Given the description of an element on the screen output the (x, y) to click on. 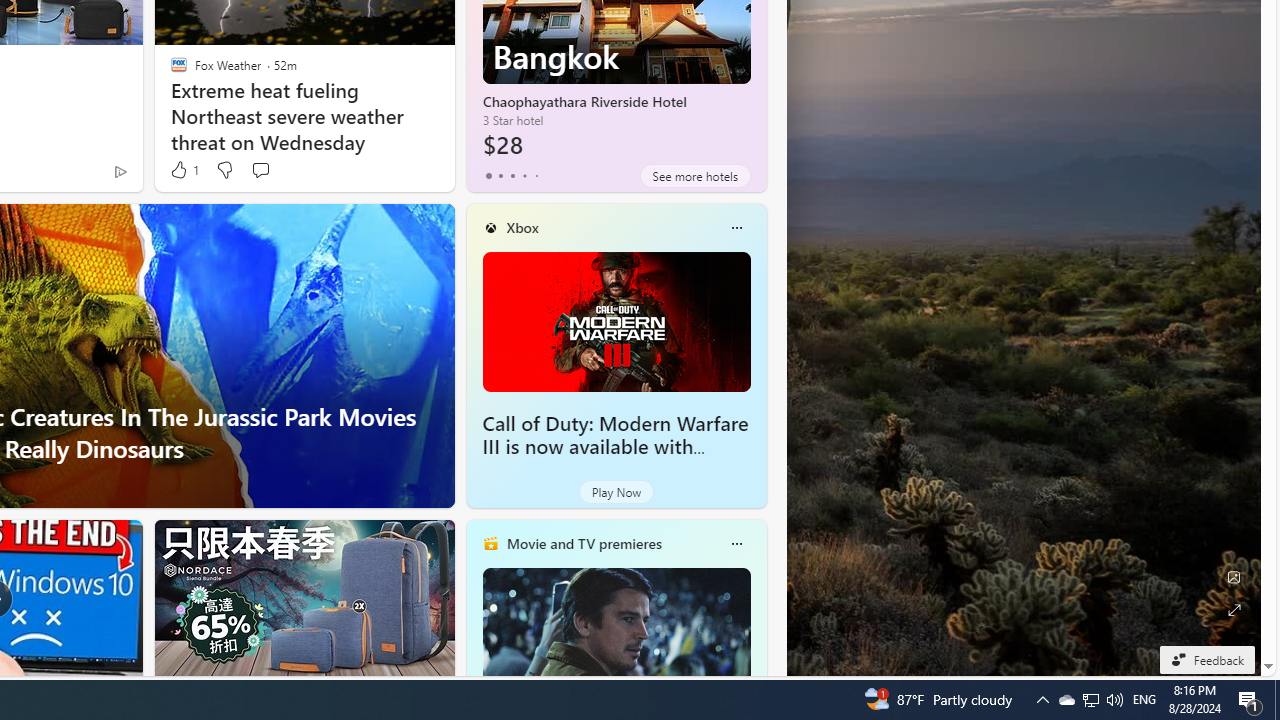
Xbox (521, 227)
Dislike (224, 170)
tab-1 (500, 175)
tab-3 (524, 175)
tab-0 (488, 175)
